Given the description of an element on the screen output the (x, y) to click on. 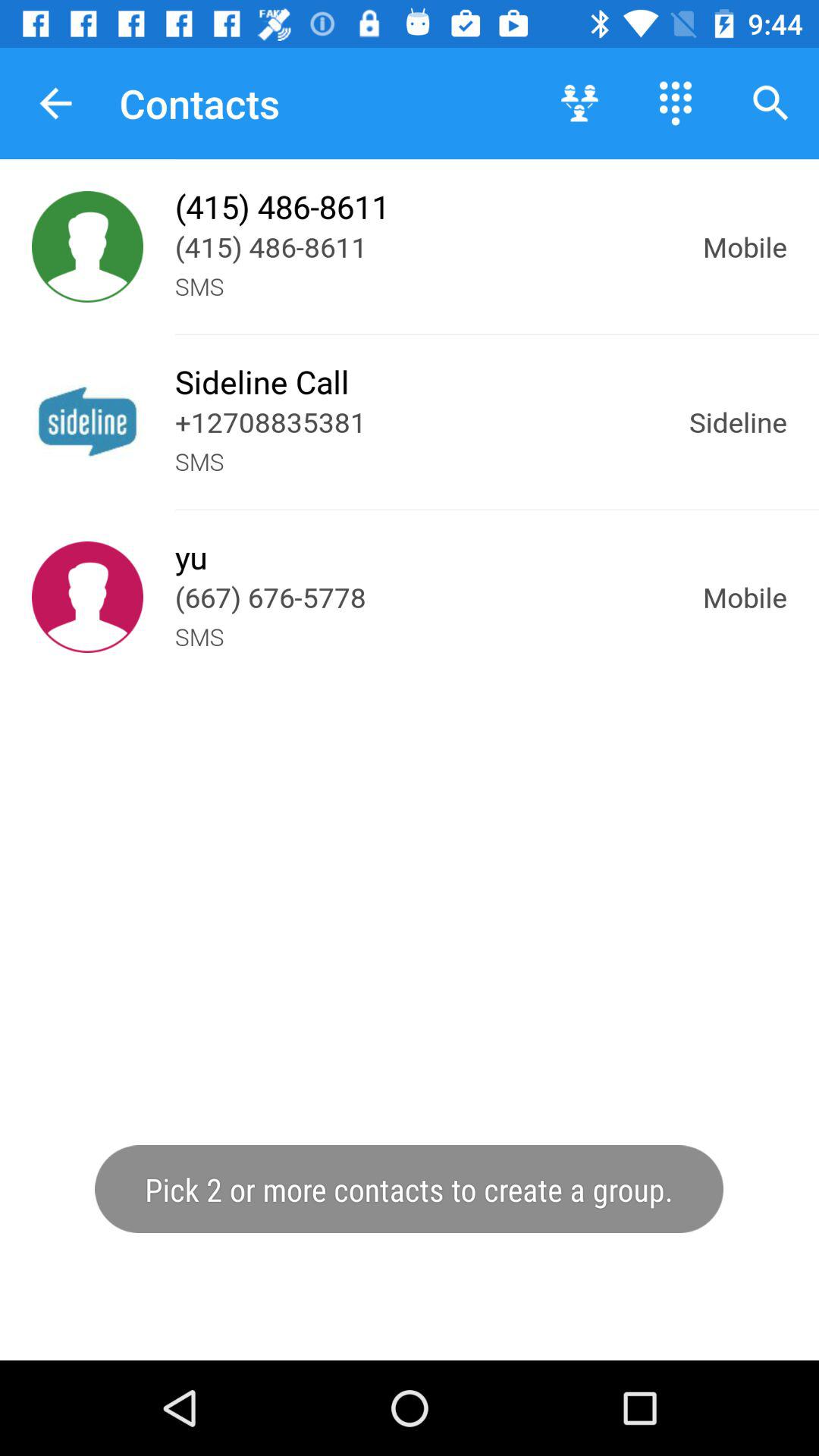
contact person (87, 246)
